Given the description of an element on the screen output the (x, y) to click on. 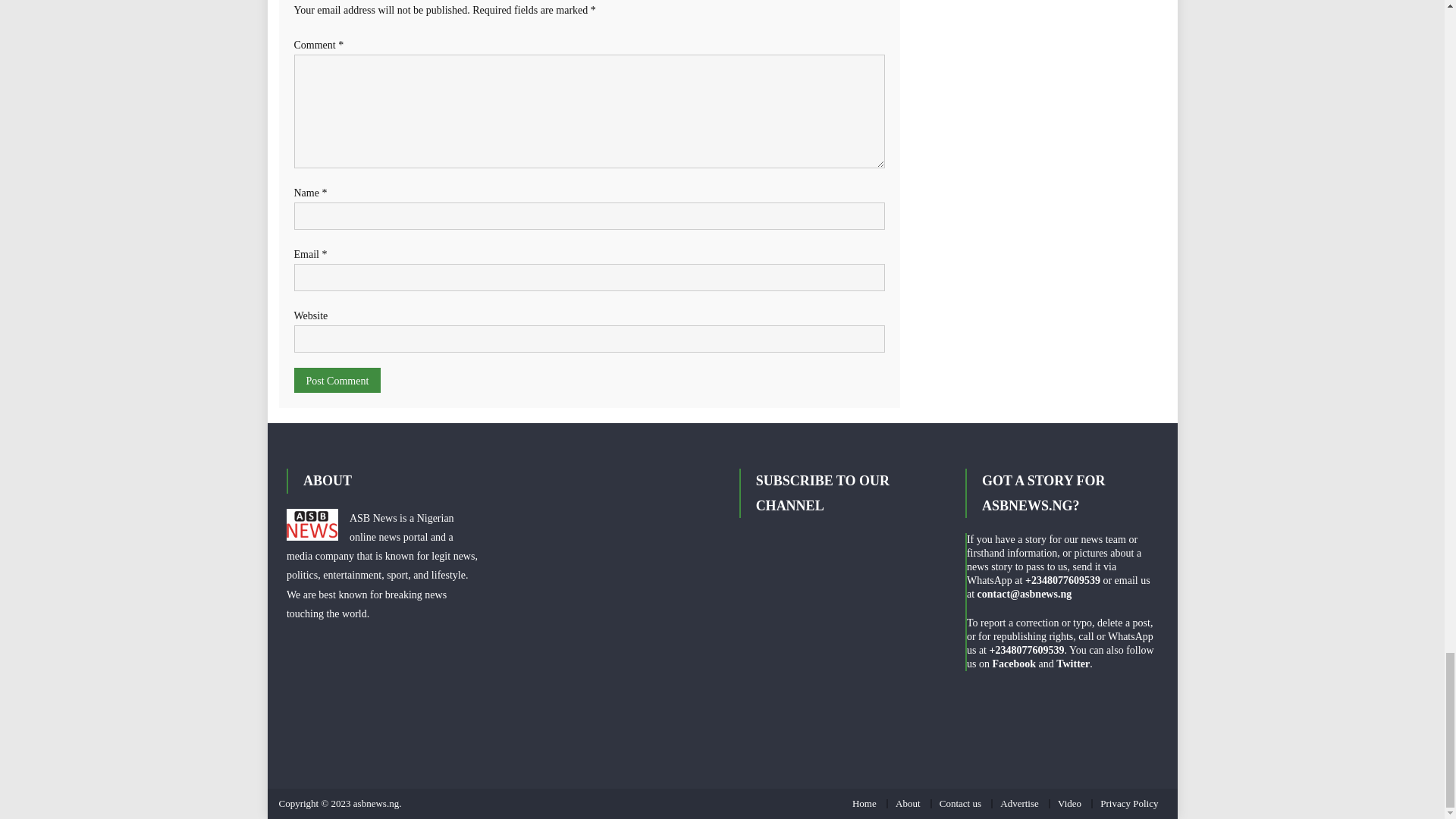
Post Comment (337, 380)
